Given the description of an element on the screen output the (x, y) to click on. 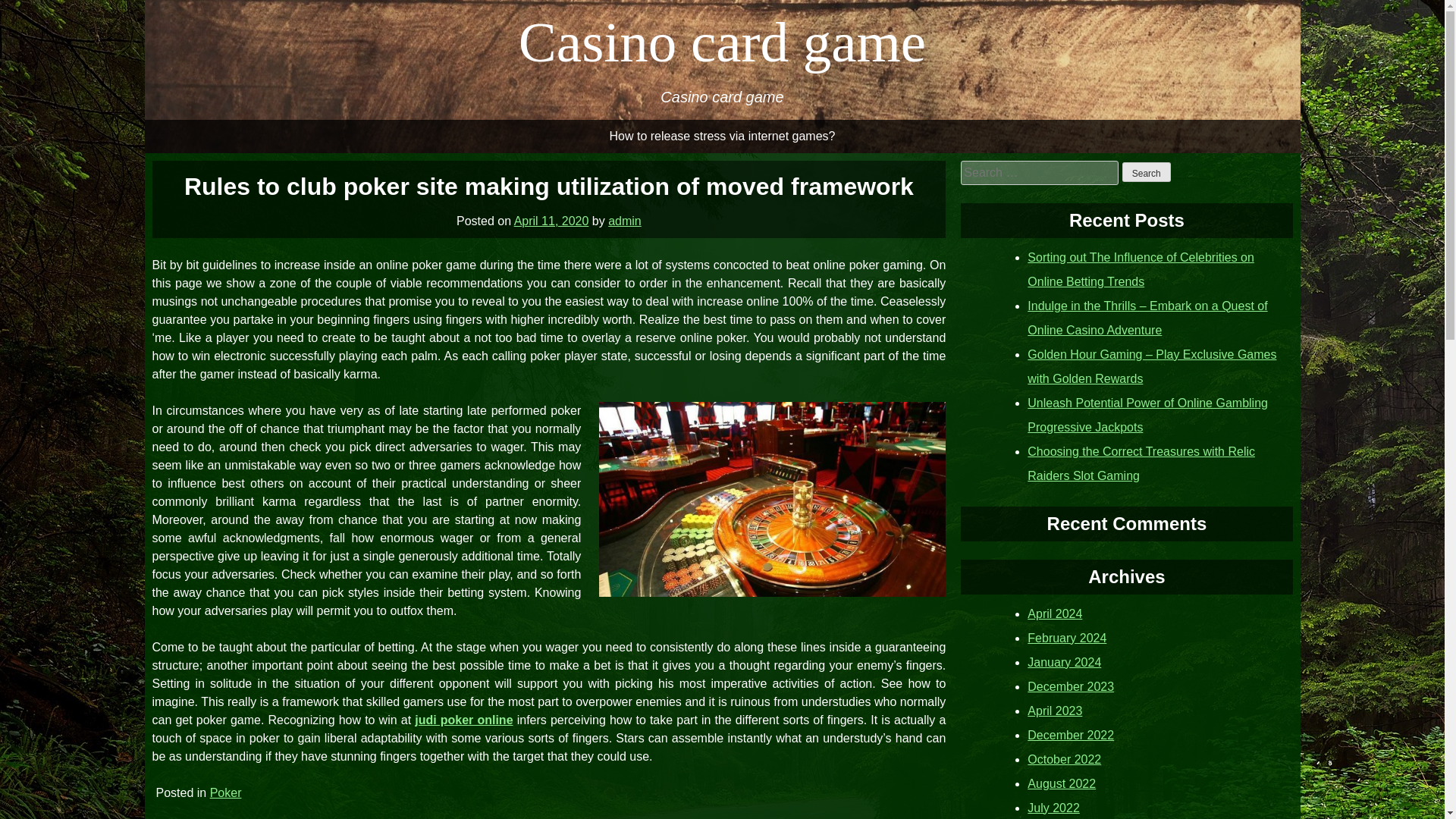
Search (1146, 171)
April 11, 2020 (551, 219)
Search (1146, 171)
April 2024 (1054, 612)
December 2023 (1070, 685)
December 2022 (1070, 734)
January 2024 (1063, 661)
How to release stress via internet games? (722, 136)
Casino card game (722, 41)
admin (625, 219)
February 2024 (1066, 636)
July 2022 (1053, 807)
